Given the description of an element on the screen output the (x, y) to click on. 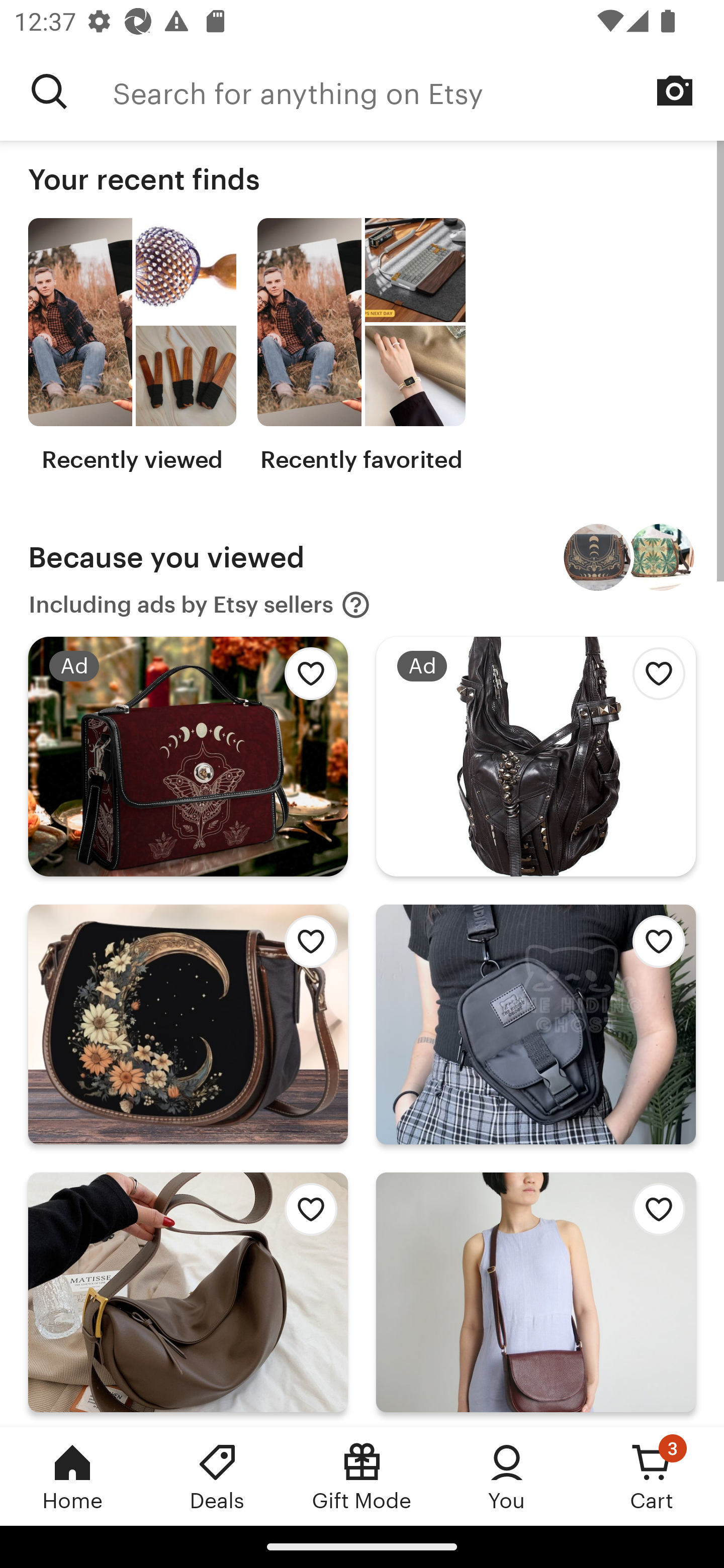
Search for anything on Etsy (49, 91)
Search by image (674, 90)
Search for anything on Etsy (418, 91)
Recently viewed (132, 345)
Recently favorited (361, 345)
Including ads by Etsy sellers (199, 604)
Deals (216, 1475)
Gift Mode (361, 1475)
You (506, 1475)
Cart, 3 new notifications Cart (651, 1475)
